Given the description of an element on the screen output the (x, y) to click on. 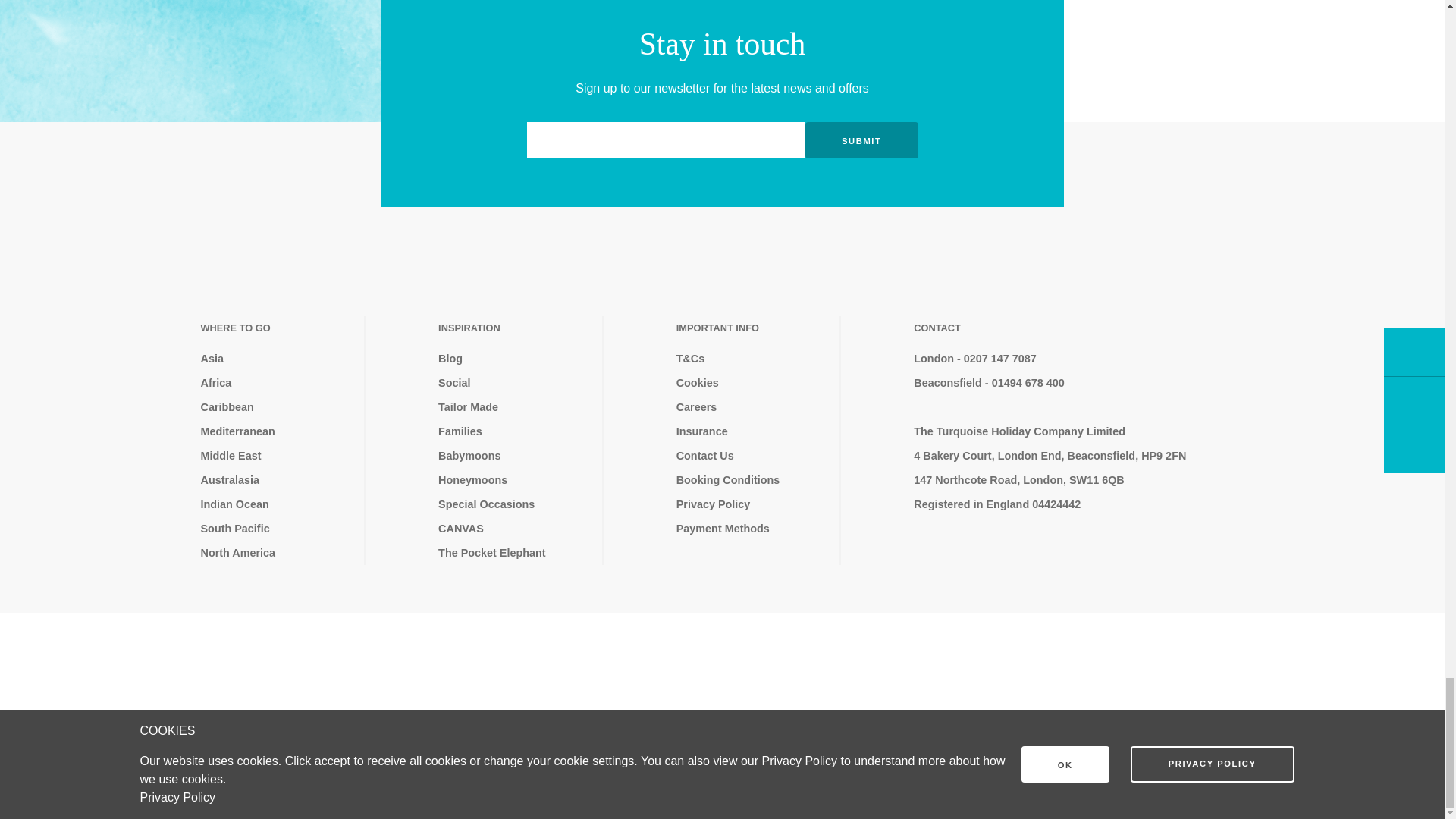
Middle East (276, 455)
SUBMIT (861, 140)
Caribbean (276, 406)
Australasia (276, 479)
Asia (276, 358)
Mediterranean (276, 431)
Africa (276, 382)
